Given the description of an element on the screen output the (x, y) to click on. 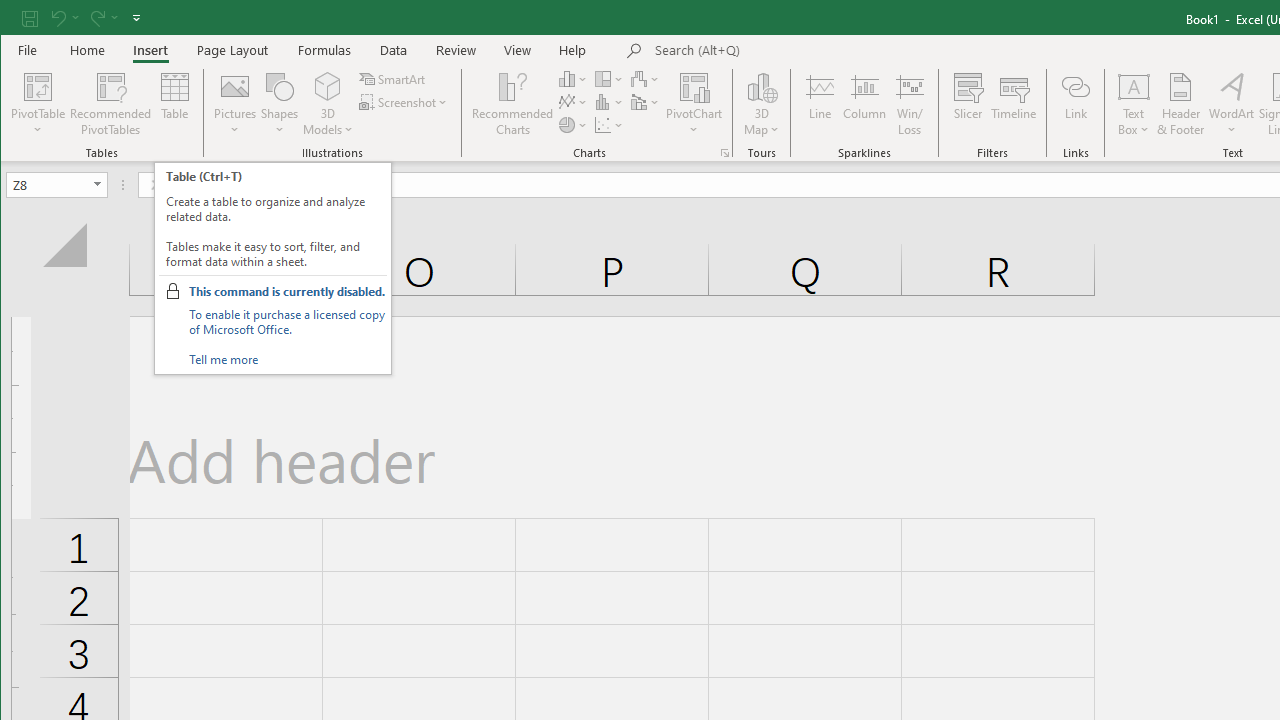
PivotTable (37, 86)
